Given the description of an element on the screen output the (x, y) to click on. 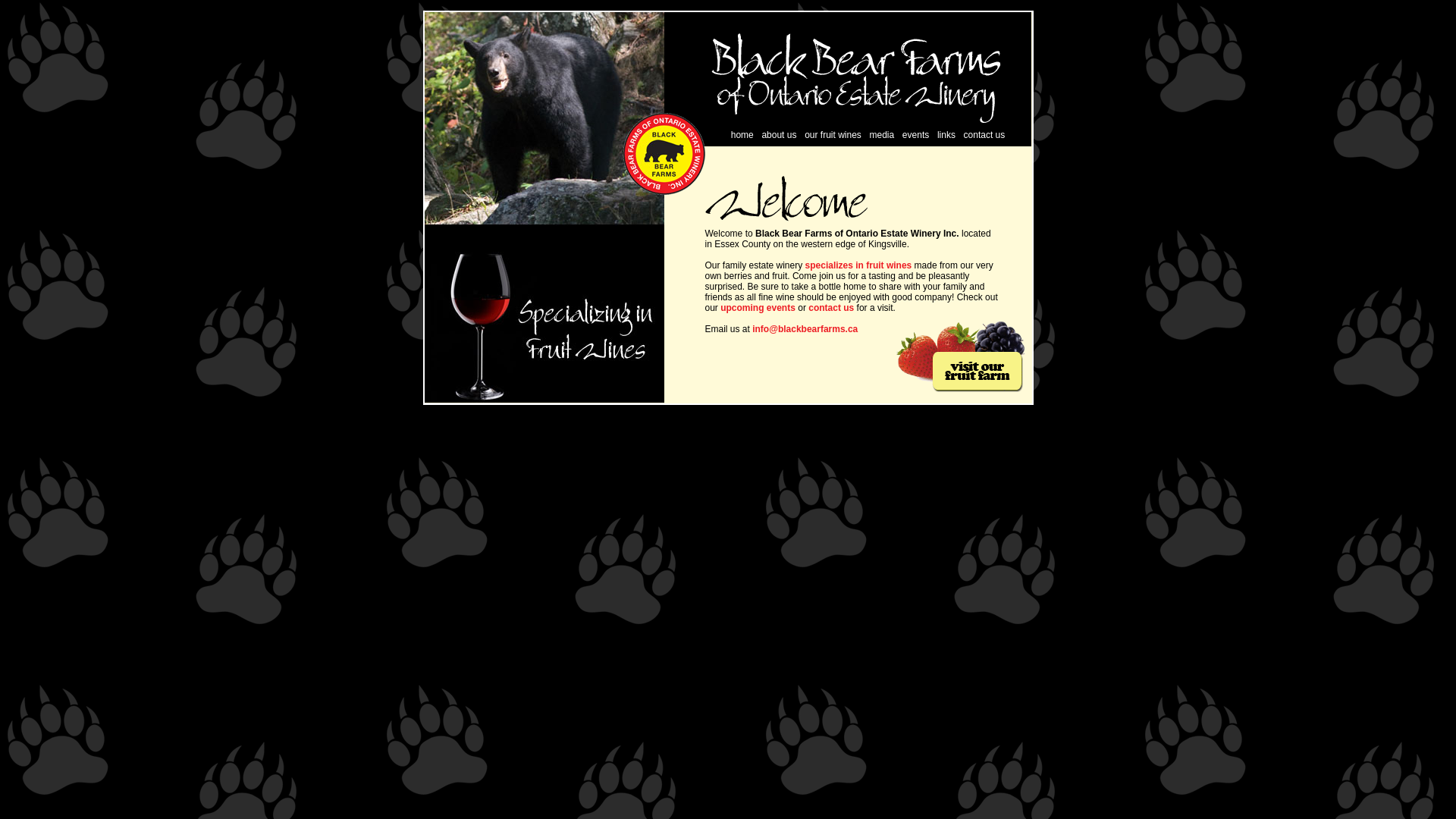
media Element type: text (881, 133)
home Element type: text (742, 133)
links Element type: text (946, 133)
specializes in fruit wines Element type: text (858, 265)
about us Element type: text (778, 133)
our fruit wines Element type: text (832, 133)
info@blackbearfarms.ca Element type: text (804, 328)
contact us Element type: text (984, 133)
upcoming events Element type: text (756, 307)
contact us Element type: text (830, 307)
events Element type: text (915, 133)
